Given the description of an element on the screen output the (x, y) to click on. 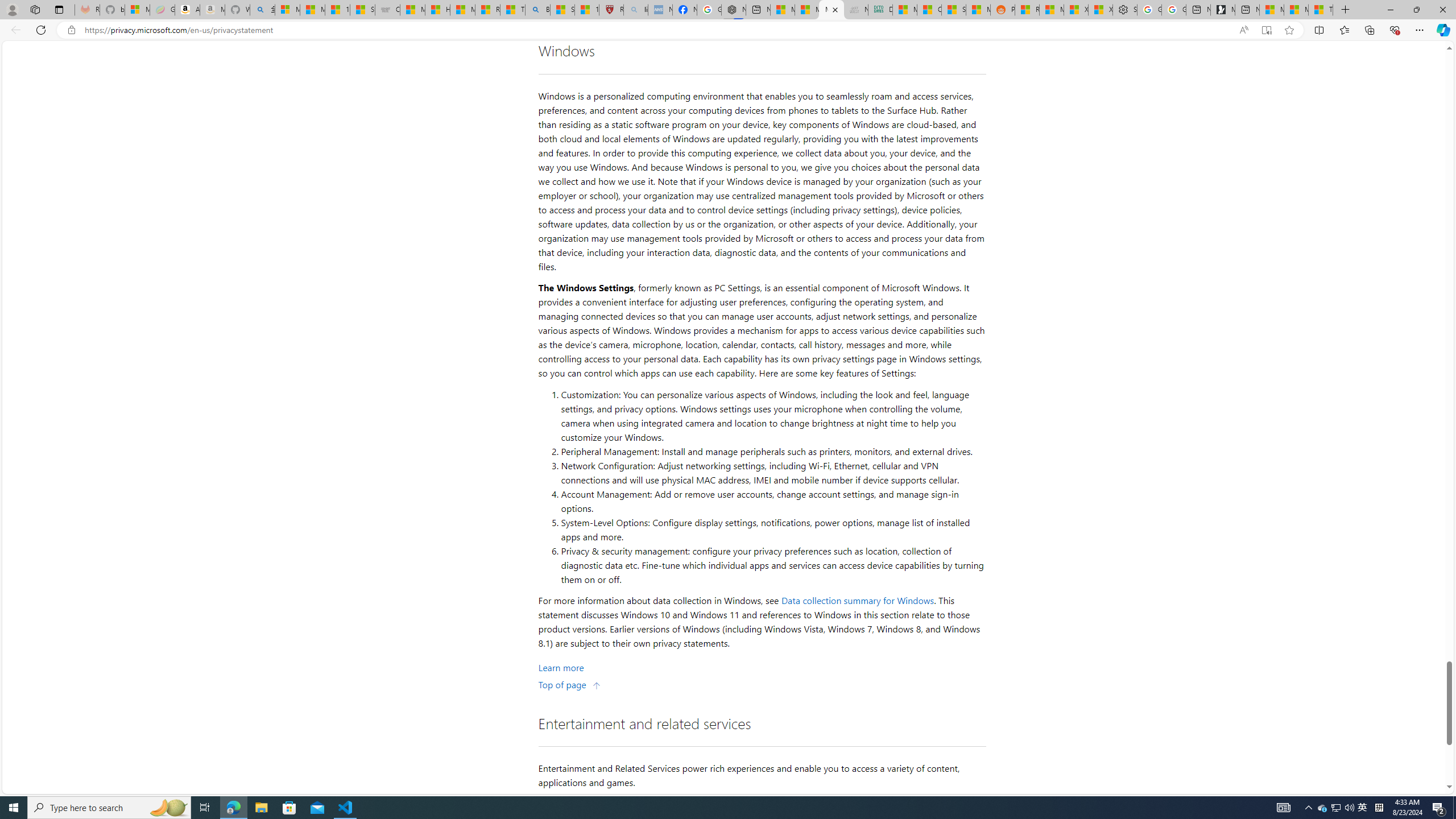
MSN (977, 9)
Top of page (569, 684)
Navy Quest (855, 9)
How I Got Rid of Microsoft Edge's Unnecessary Features (437, 9)
